Given the description of an element on the screen output the (x, y) to click on. 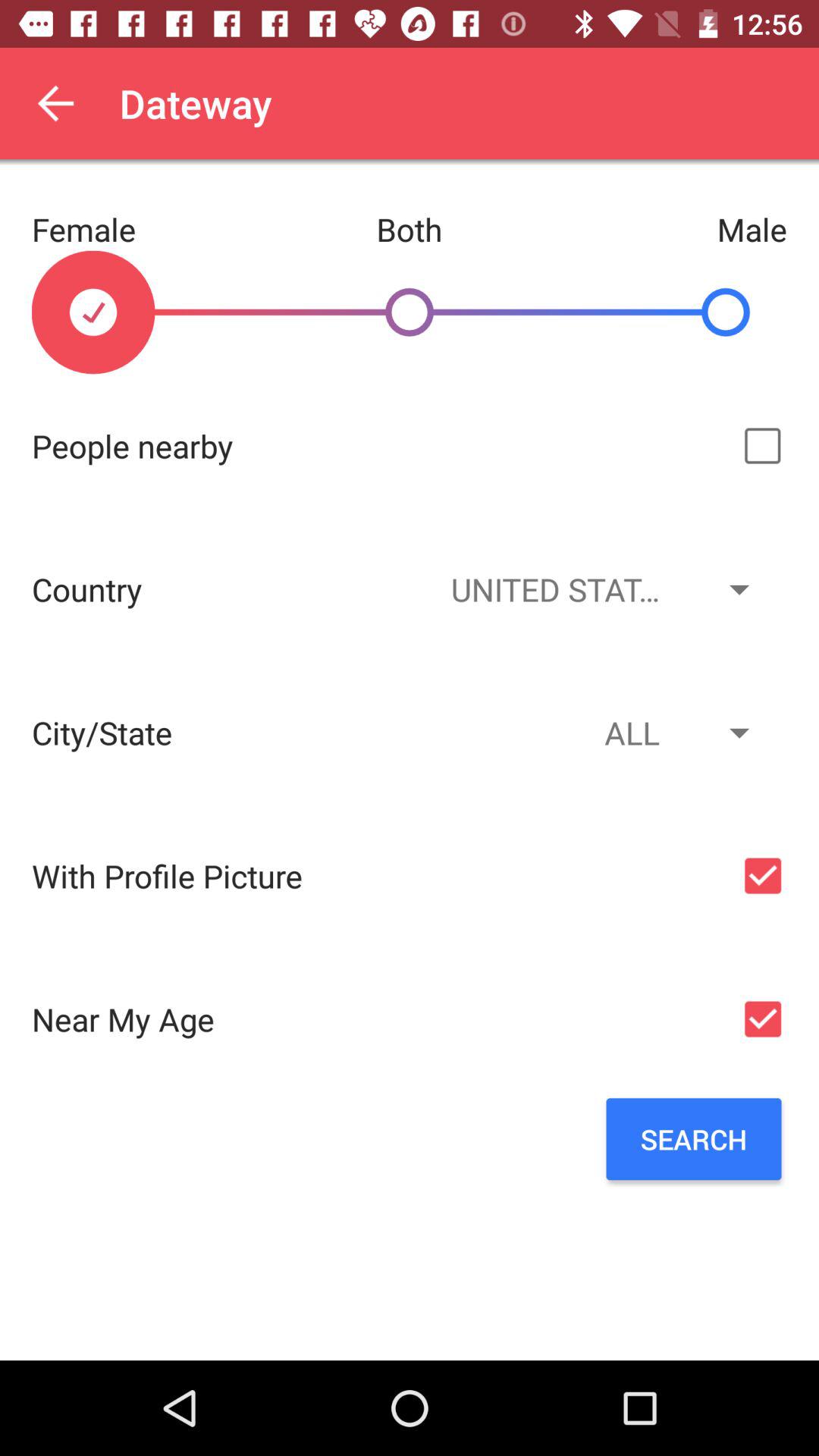
swipe until the search item (693, 1139)
